Given the description of an element on the screen output the (x, y) to click on. 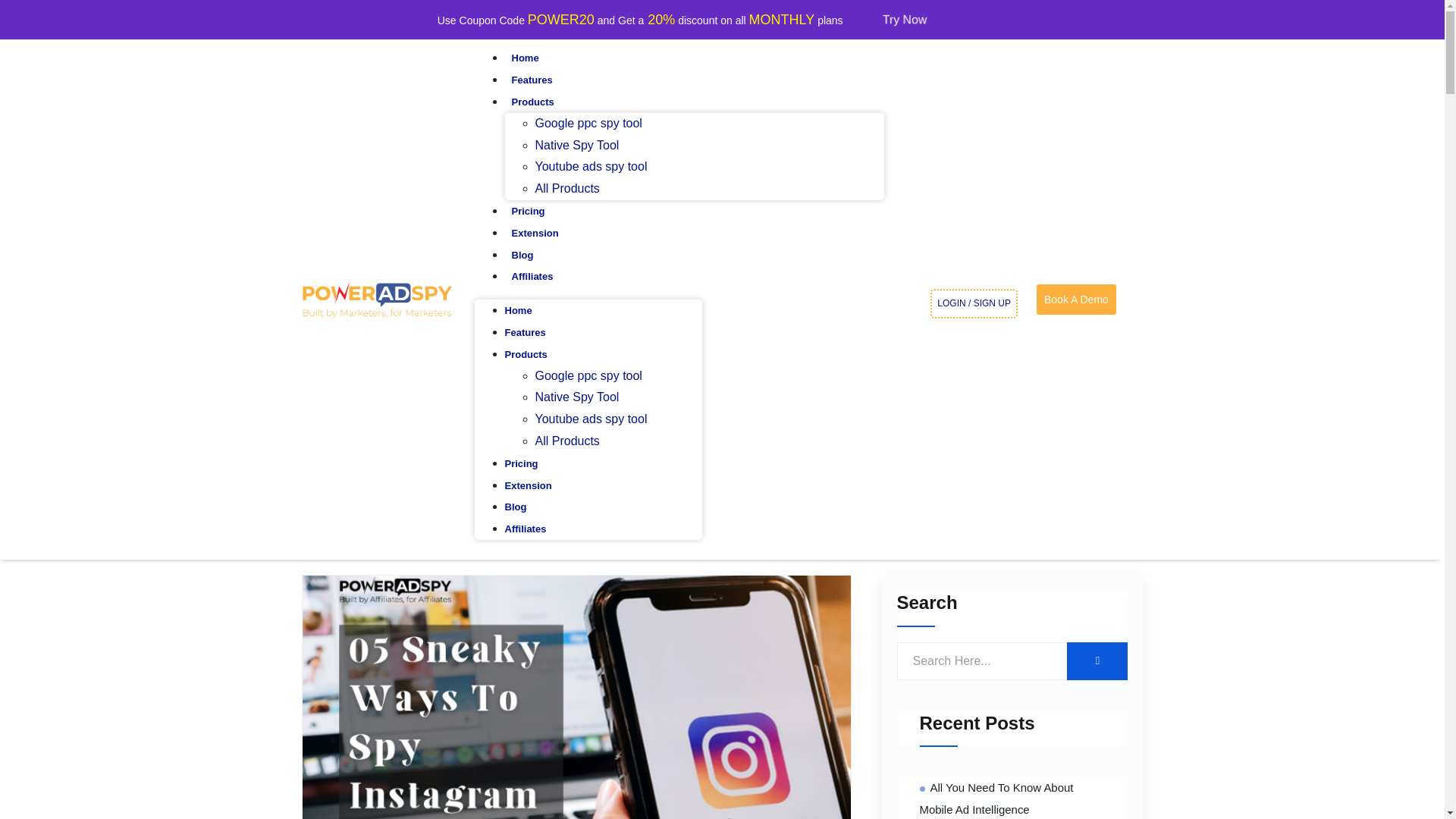
All Products (567, 187)
Try Now (906, 18)
Pricing (521, 463)
Features (525, 332)
Book A Demo (1076, 299)
All Products (567, 440)
Youtube ads spy tool (591, 418)
Extension (528, 485)
Affiliates (532, 276)
Home (525, 57)
